Given the description of an element on the screen output the (x, y) to click on. 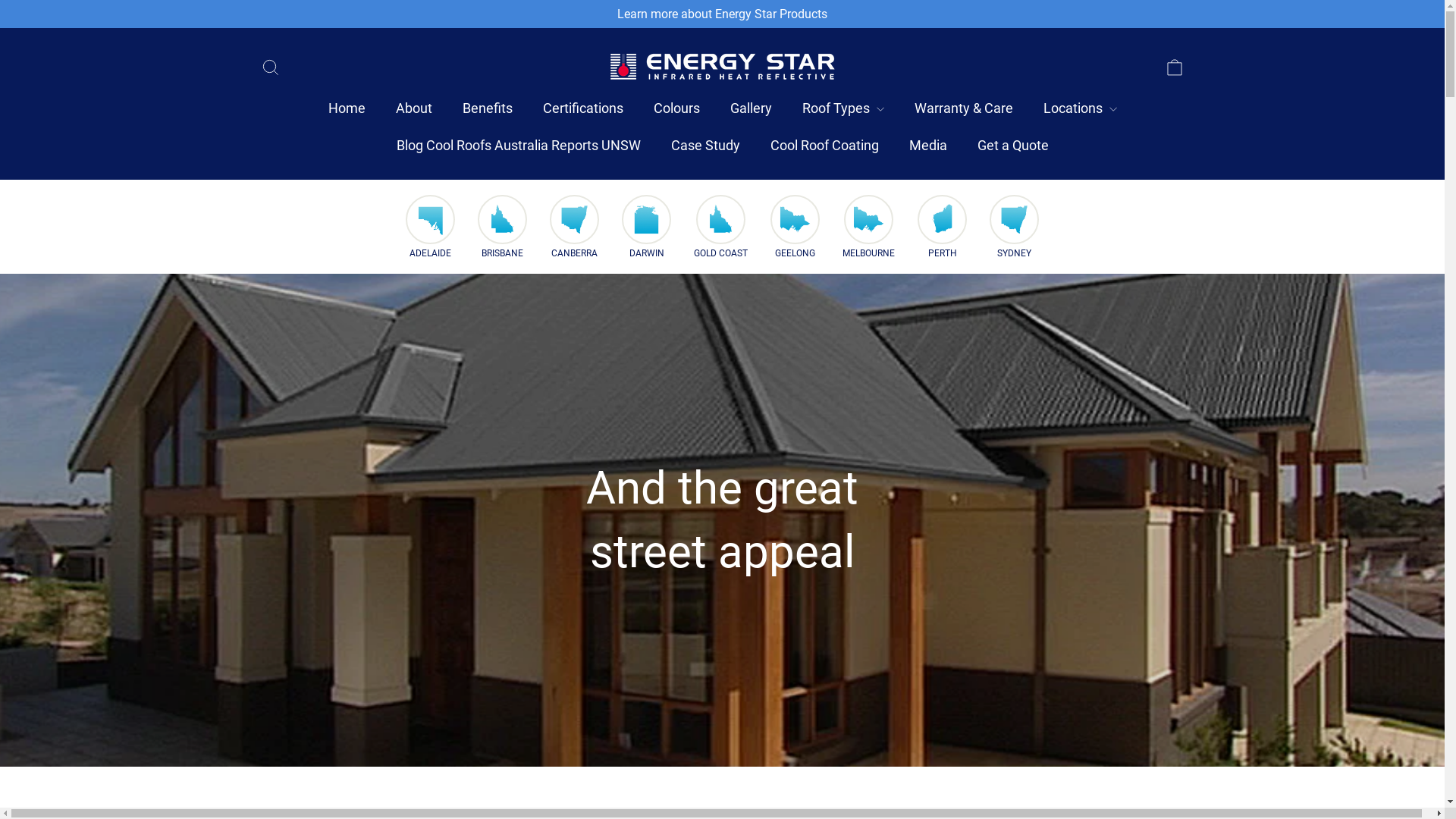
Learn more about Energy Star Products Element type: text (722, 14)
icon-search
Search Element type: text (269, 65)
Gallery Element type: text (750, 108)
Colours Element type: text (676, 108)
icon-bag-minimal
Cart Element type: text (1173, 65)
Media Element type: text (927, 145)
About Element type: text (413, 108)
Home Element type: text (345, 108)
Case Study Element type: text (704, 145)
Certifications Element type: text (582, 108)
Get a Quote Element type: text (1012, 145)
Blog Cool Roofs Australia Reports UNSW Element type: text (517, 145)
Cool Roof Coating Element type: text (824, 145)
Benefits Element type: text (487, 108)
Warranty & Care Element type: text (963, 108)
